Given the description of an element on the screen output the (x, y) to click on. 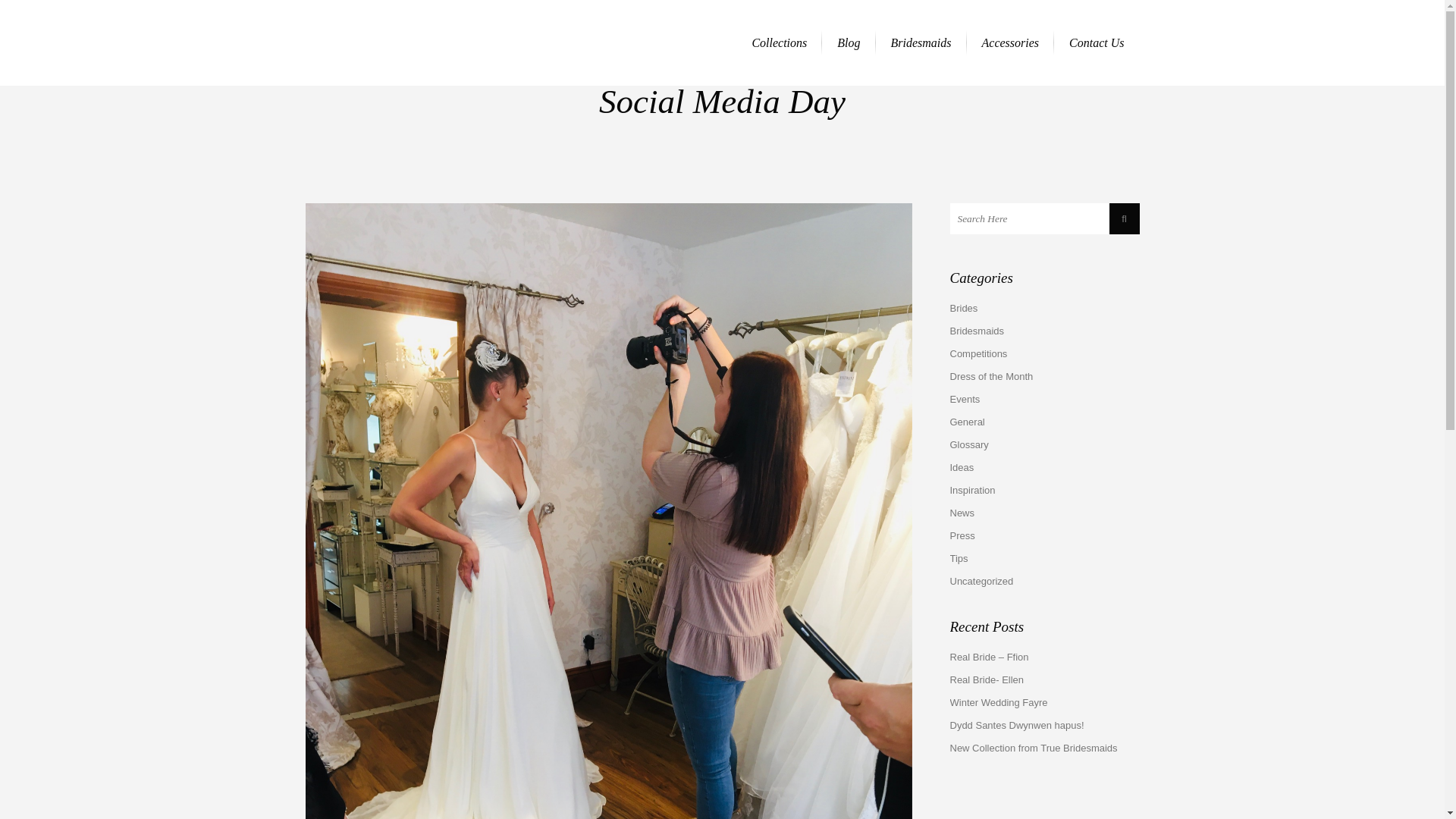
Press (961, 535)
Brides (962, 307)
Contact Us (1096, 42)
Tips (958, 558)
Dydd Santes Dwynwen hapus! (1016, 725)
Dress of the Month (990, 376)
General (966, 421)
Collections (779, 42)
Winter Wedding Fayre (997, 702)
Competitions (978, 353)
Real Bride- Ellen (986, 679)
Glossary (968, 444)
Events (964, 398)
Bridesmaids (921, 42)
Accessories (1010, 42)
